Given the description of an element on the screen output the (x, y) to click on. 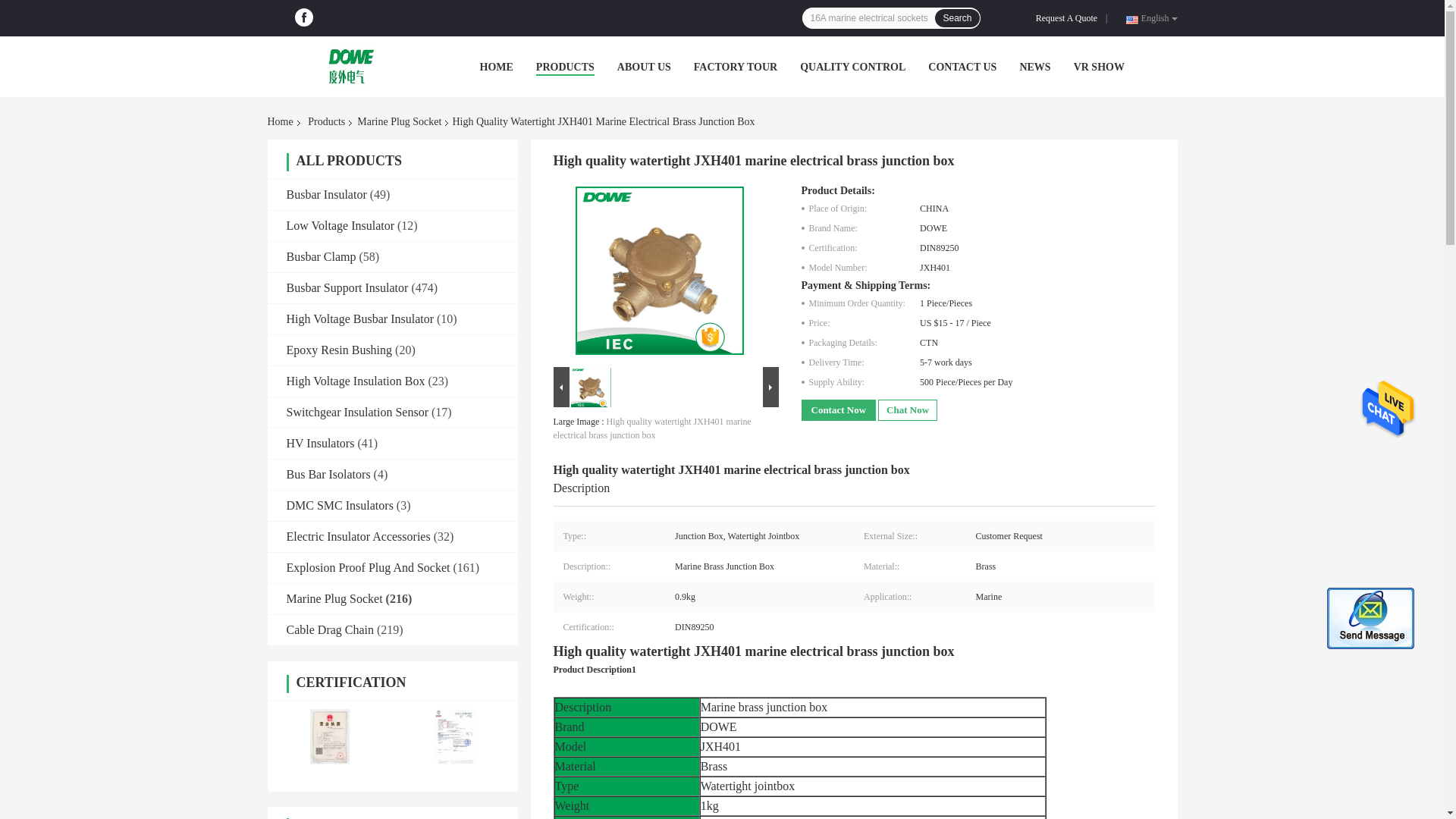
PRODUCTS (564, 66)
Busbar Insulator (326, 194)
Bus Bar Isolators (328, 473)
Busbar Clamp (321, 256)
Products (325, 121)
Home (282, 121)
High Voltage Busbar Insulator (359, 318)
Request A Quote (1069, 18)
Busbar Support Insulator (347, 287)
ABOUT US (644, 66)
